Given the description of an element on the screen output the (x, y) to click on. 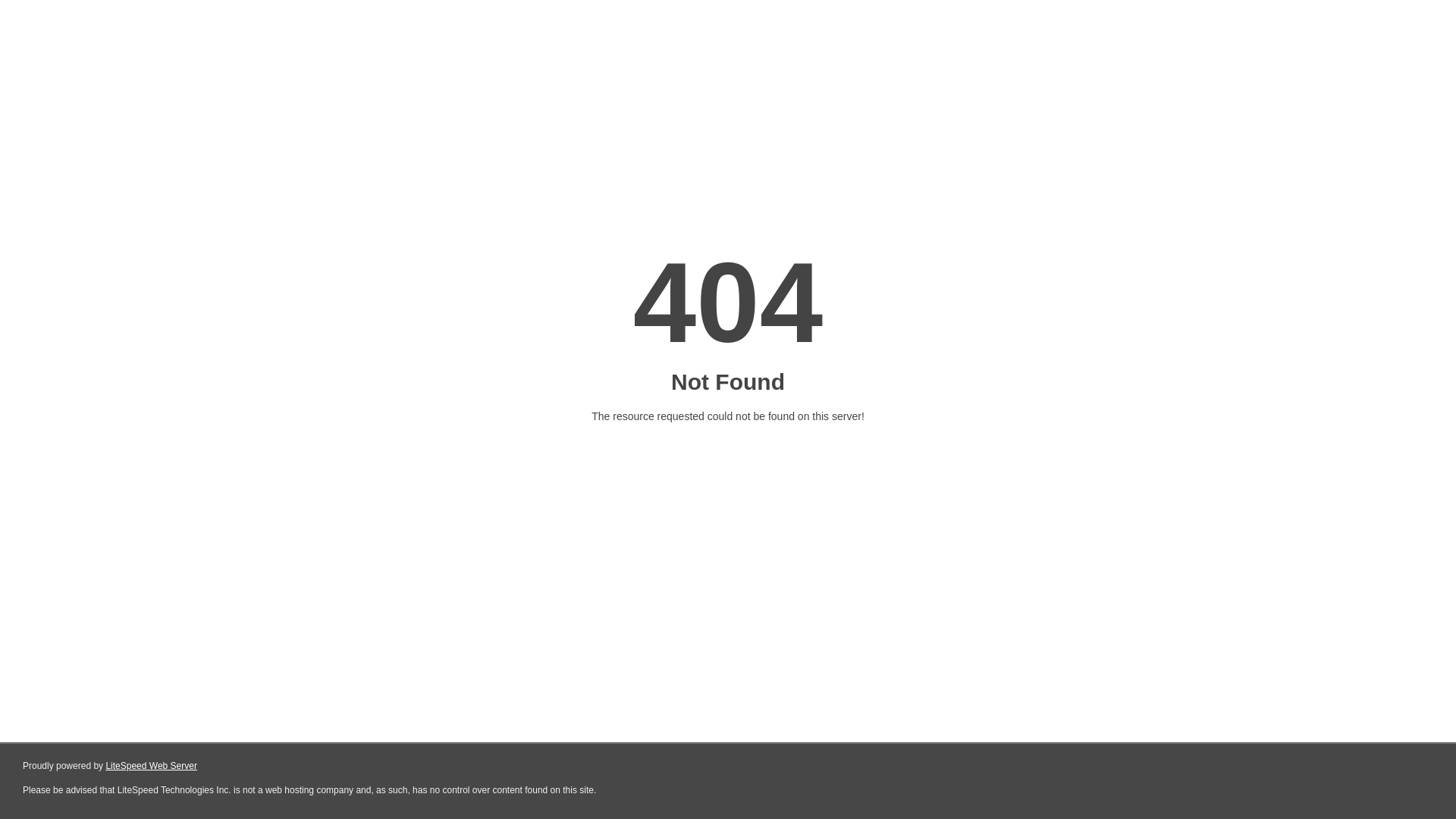
LiteSpeed Web Server Element type: text (151, 765)
